Given the description of an element on the screen output the (x, y) to click on. 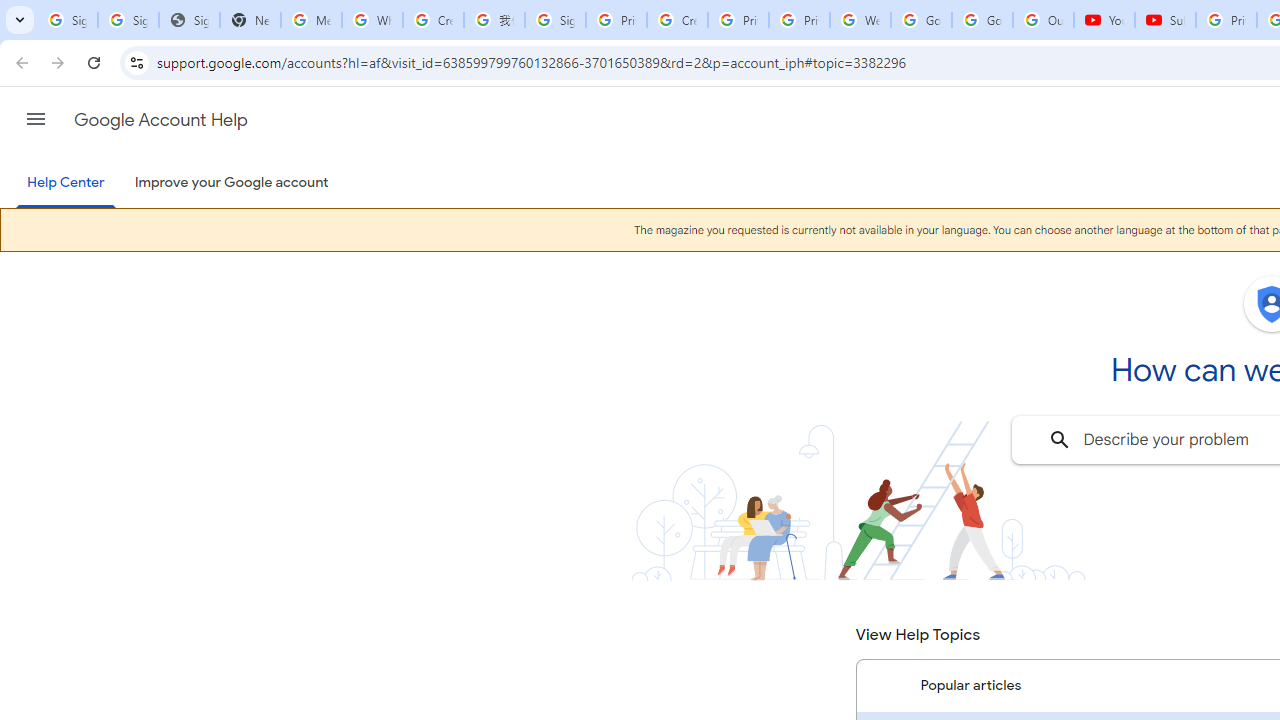
Subscriptions - YouTube (1165, 20)
Create your Google Account (433, 20)
Sign in - Google Accounts (555, 20)
Main menu (35, 119)
To search (1059, 439)
Create your Google Account (676, 20)
Google Account Help (160, 119)
Welcome to My Activity (859, 20)
